Given the description of an element on the screen output the (x, y) to click on. 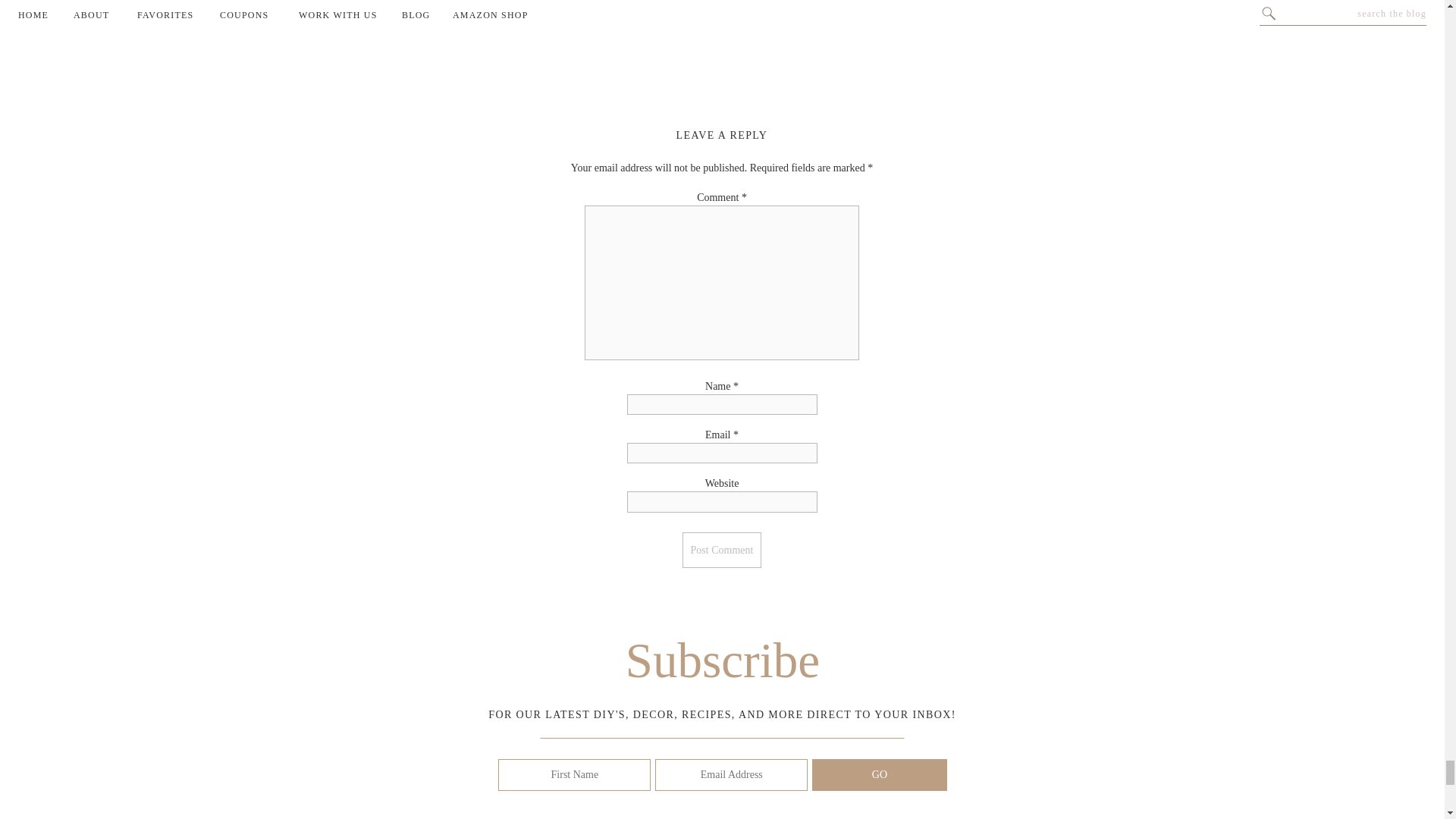
Post Comment (721, 550)
